Given the description of an element on the screen output the (x, y) to click on. 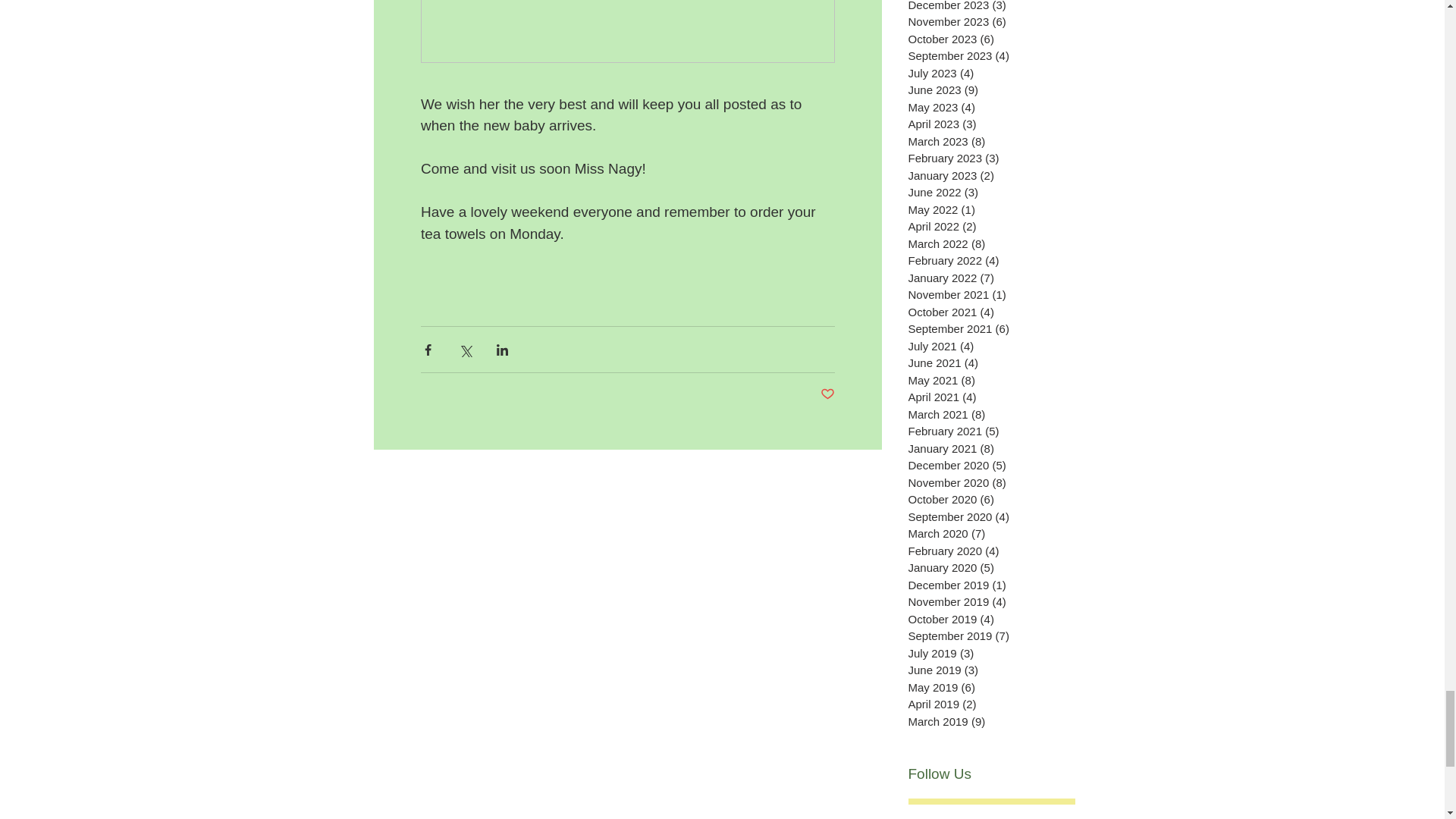
Post not marked as liked (827, 394)
